Given the description of an element on the screen output the (x, y) to click on. 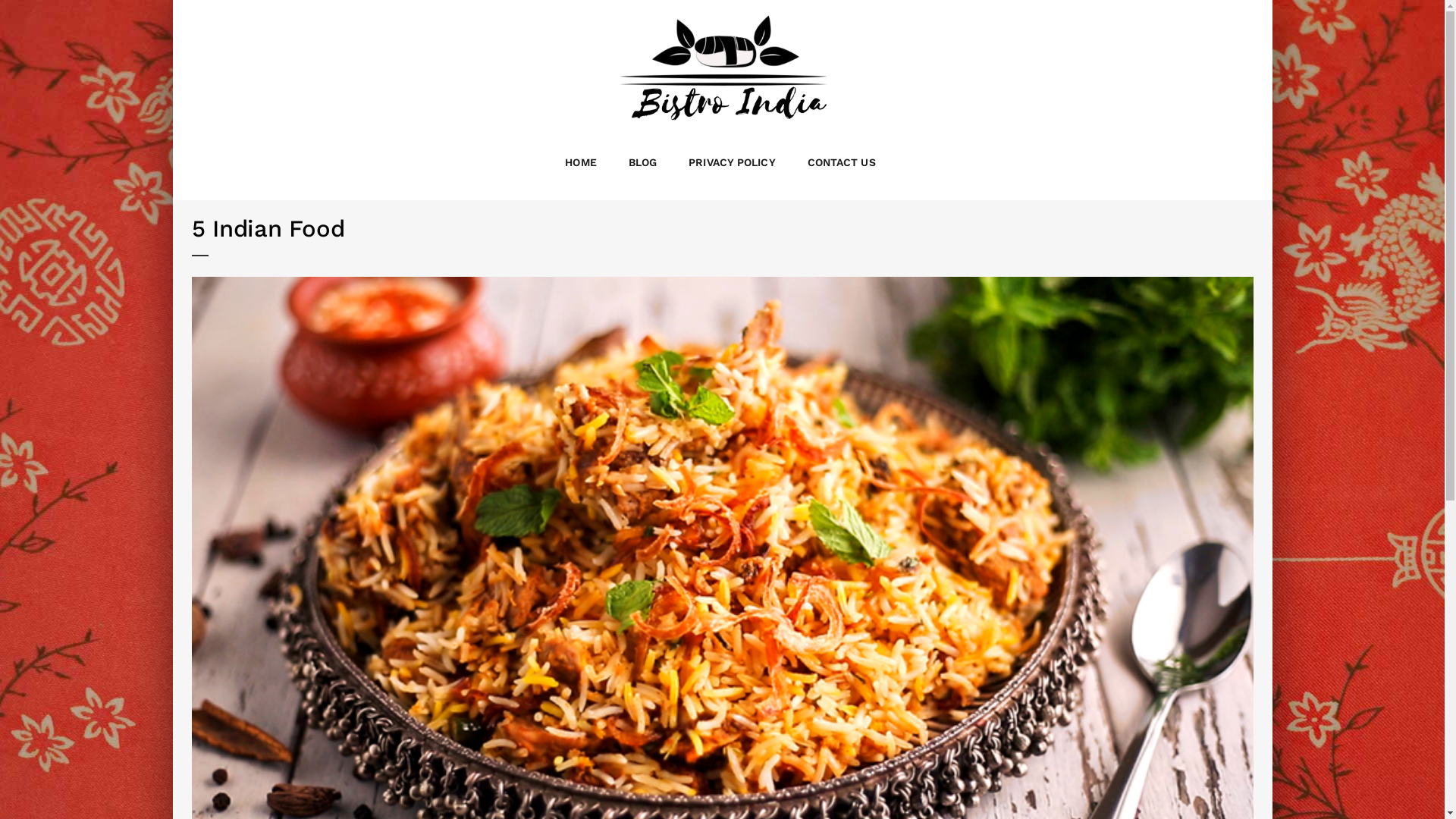
BLOG Element type: text (642, 162)
PRIVACY POLICY Element type: text (731, 162)
HOME Element type: text (580, 162)
CONTACT US Element type: text (841, 162)
